Given the description of an element on the screen output the (x, y) to click on. 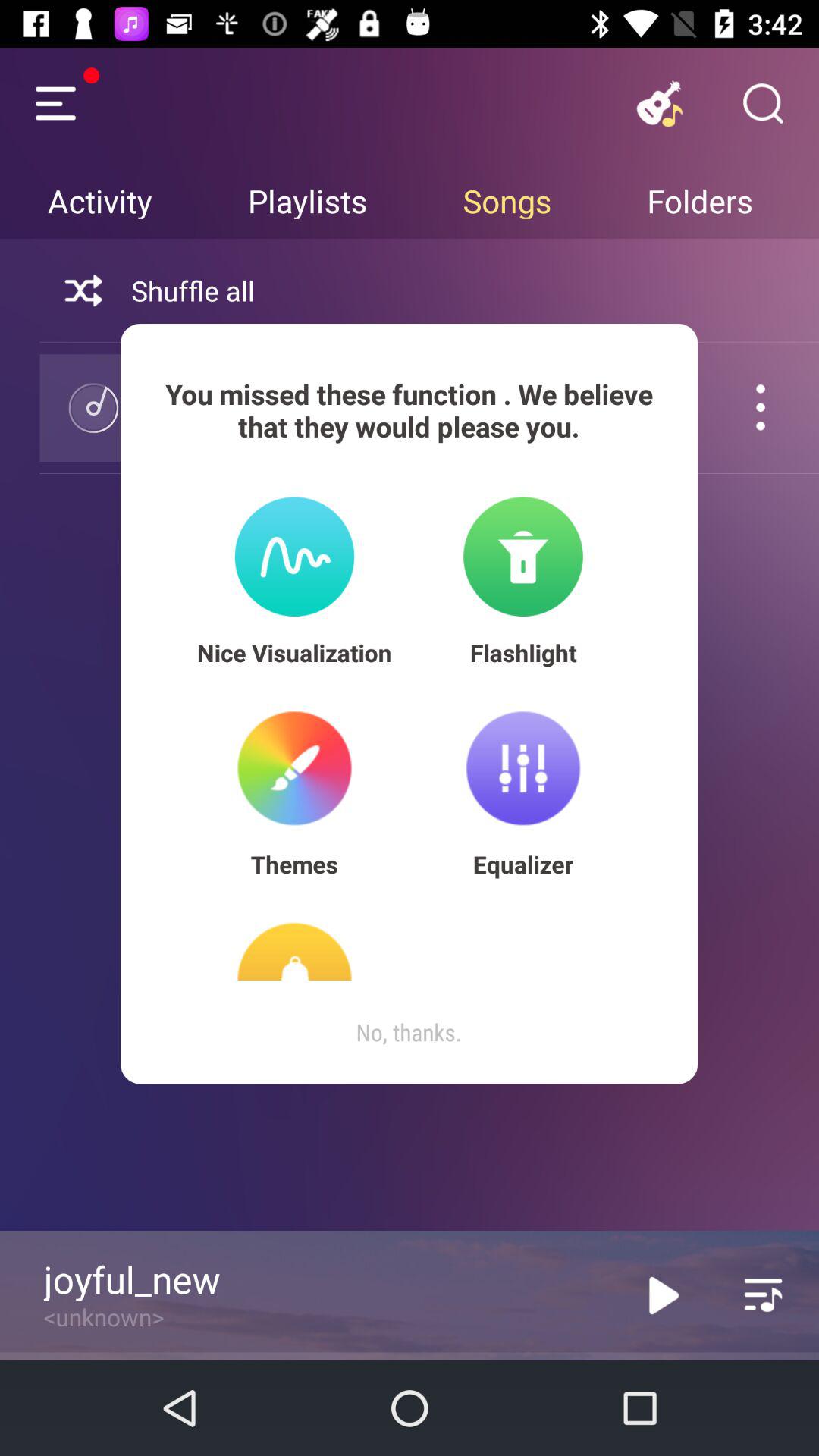
choose the no, thanks. app (408, 1032)
